Given the description of an element on the screen output the (x, y) to click on. 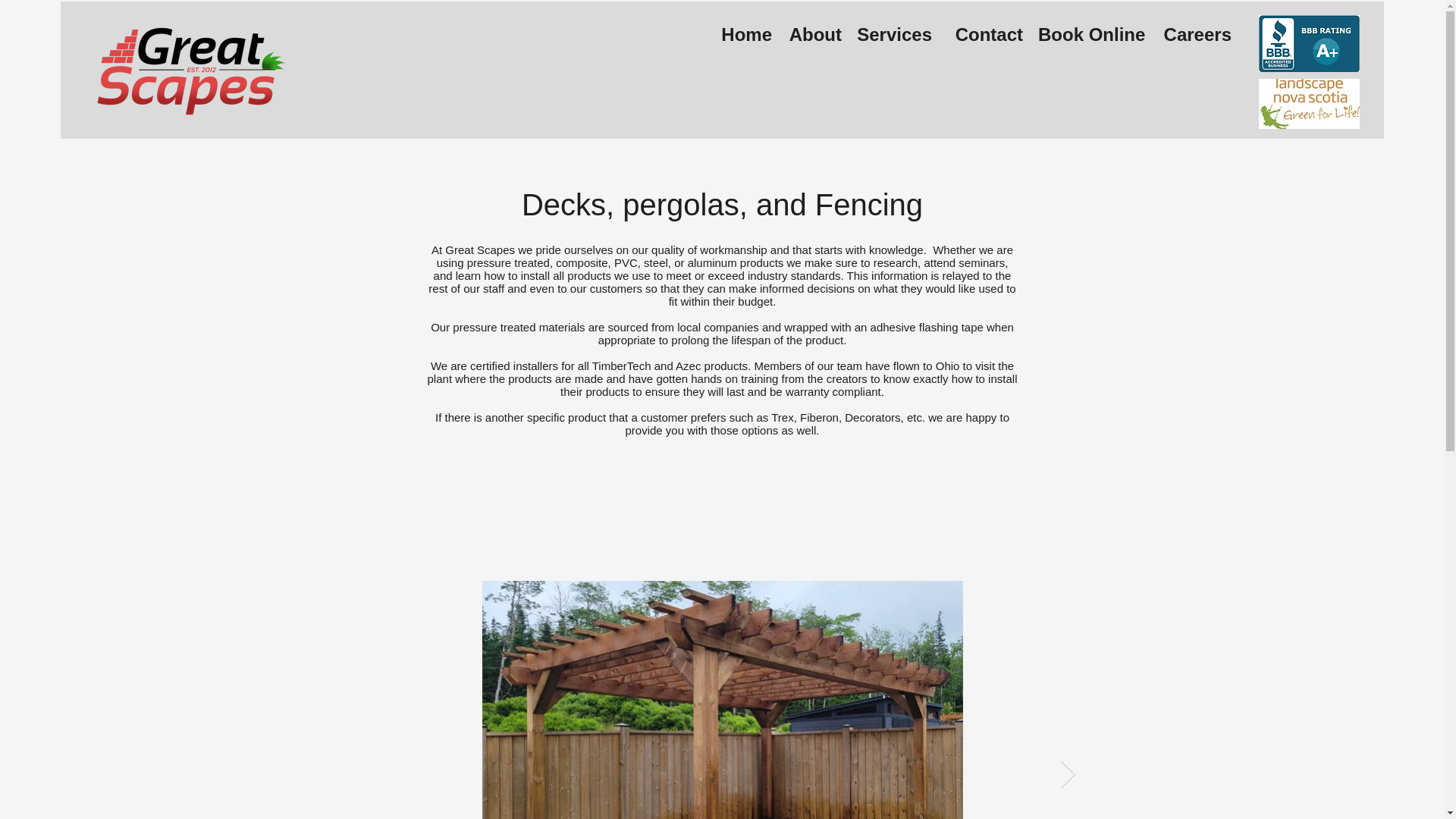
Home (744, 34)
Book Online (1090, 34)
About (813, 34)
Contact (984, 34)
Services (893, 34)
Careers (1195, 34)
